Given the description of an element on the screen output the (x, y) to click on. 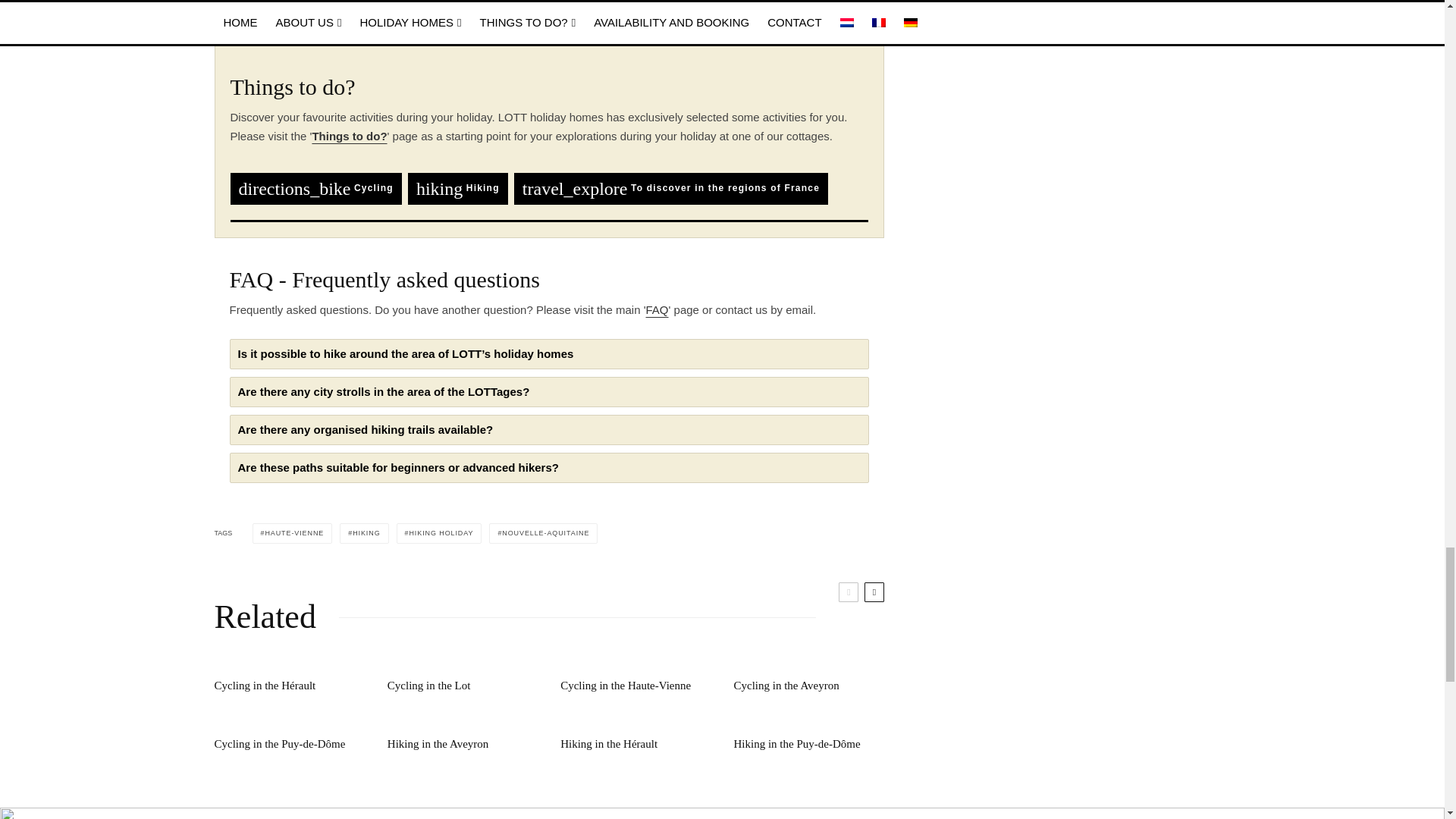
Things to do? (349, 135)
Hiking in France (457, 188)
Cycling in France (315, 188)
